Given the description of an element on the screen output the (x, y) to click on. 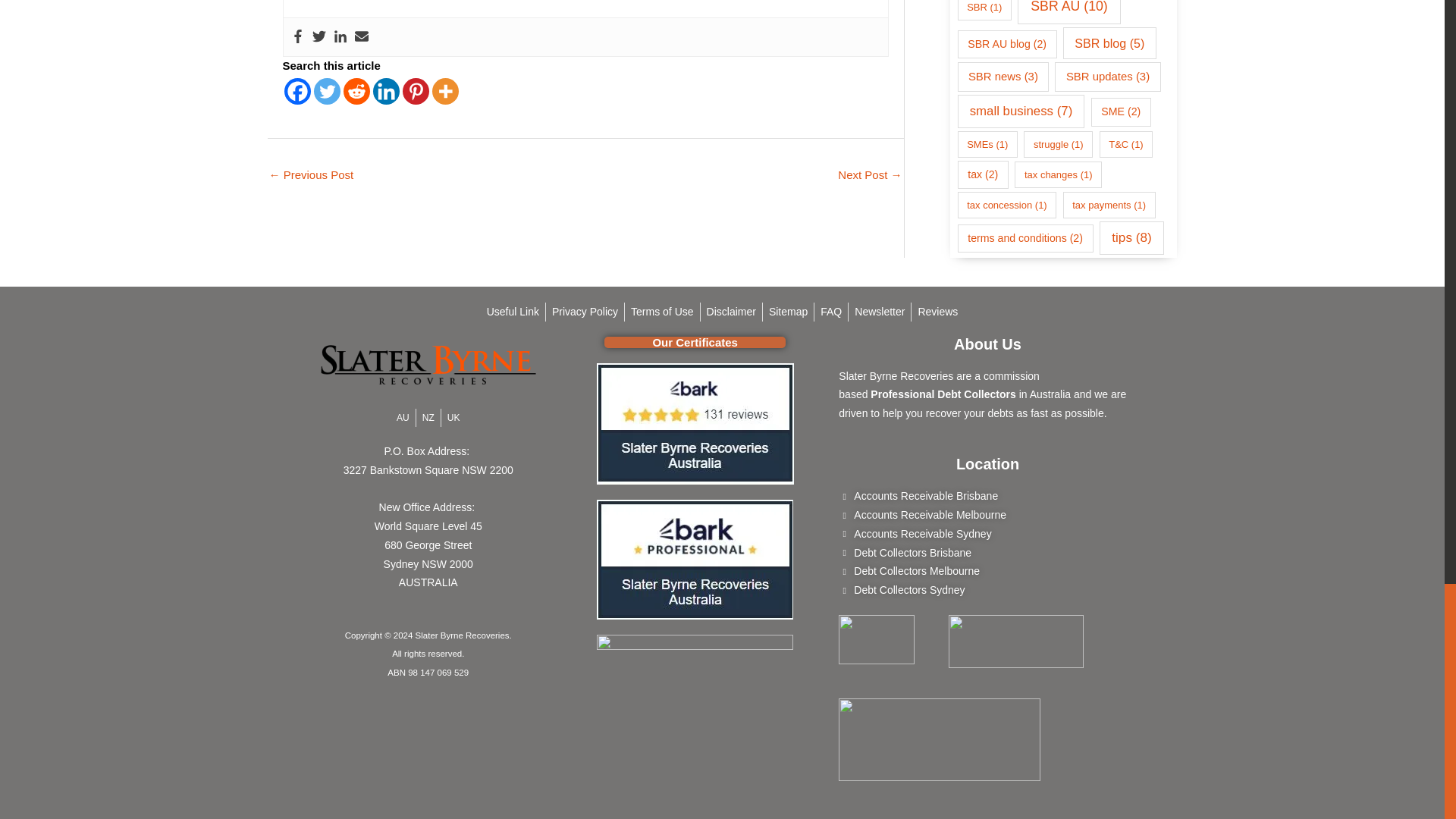
Facebook (297, 37)
More (445, 90)
Twitter (319, 37)
Twitter (327, 90)
Pinterest (414, 90)
Reddit (355, 90)
Facebook (296, 90)
User email (361, 37)
Linkedin (340, 37)
